Given the description of an element on the screen output the (x, y) to click on. 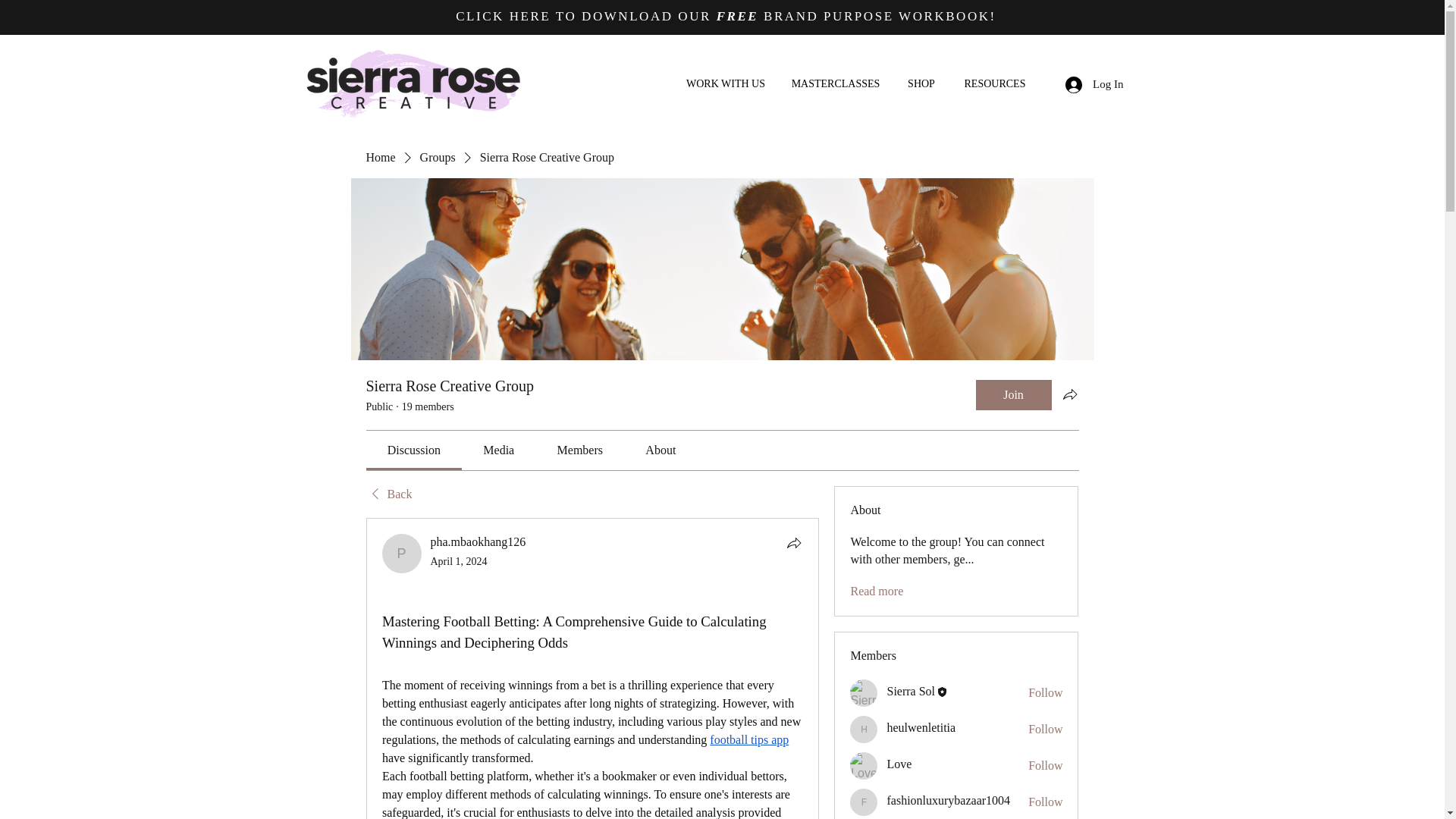
CLICK HERE TO DOWNLOAD OUR FREE BRAND PURPOSE WORKBOOK! (725, 16)
Follow (1044, 729)
April 1, 2024 (458, 561)
Follow (1044, 692)
pha.mbaokhang126 (401, 553)
fashionluxurybazaar1004 (948, 799)
Read more (876, 591)
Join (1013, 395)
football tips app (749, 739)
Sierra Sol (910, 690)
Love (863, 765)
heulwenletitia (863, 728)
Follow (1044, 765)
heulwenletitia (920, 727)
pha.mbaokhang126 (477, 541)
